Given the description of an element on the screen output the (x, y) to click on. 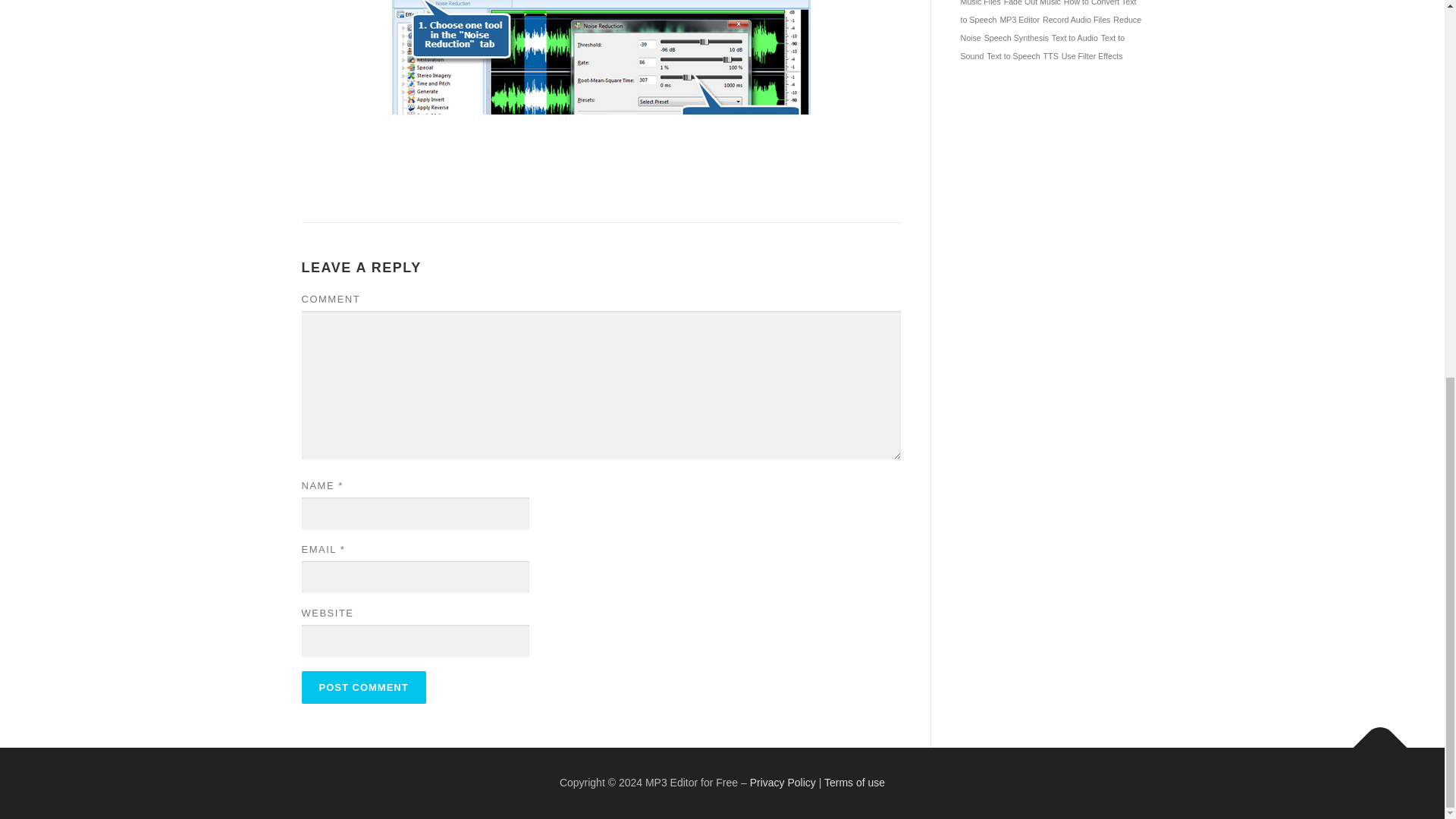
Reduce noise with noise reduction tools (600, 94)
Back To Top (1372, 740)
Post Comment (363, 686)
Post Comment (363, 686)
